Given the description of an element on the screen output the (x, y) to click on. 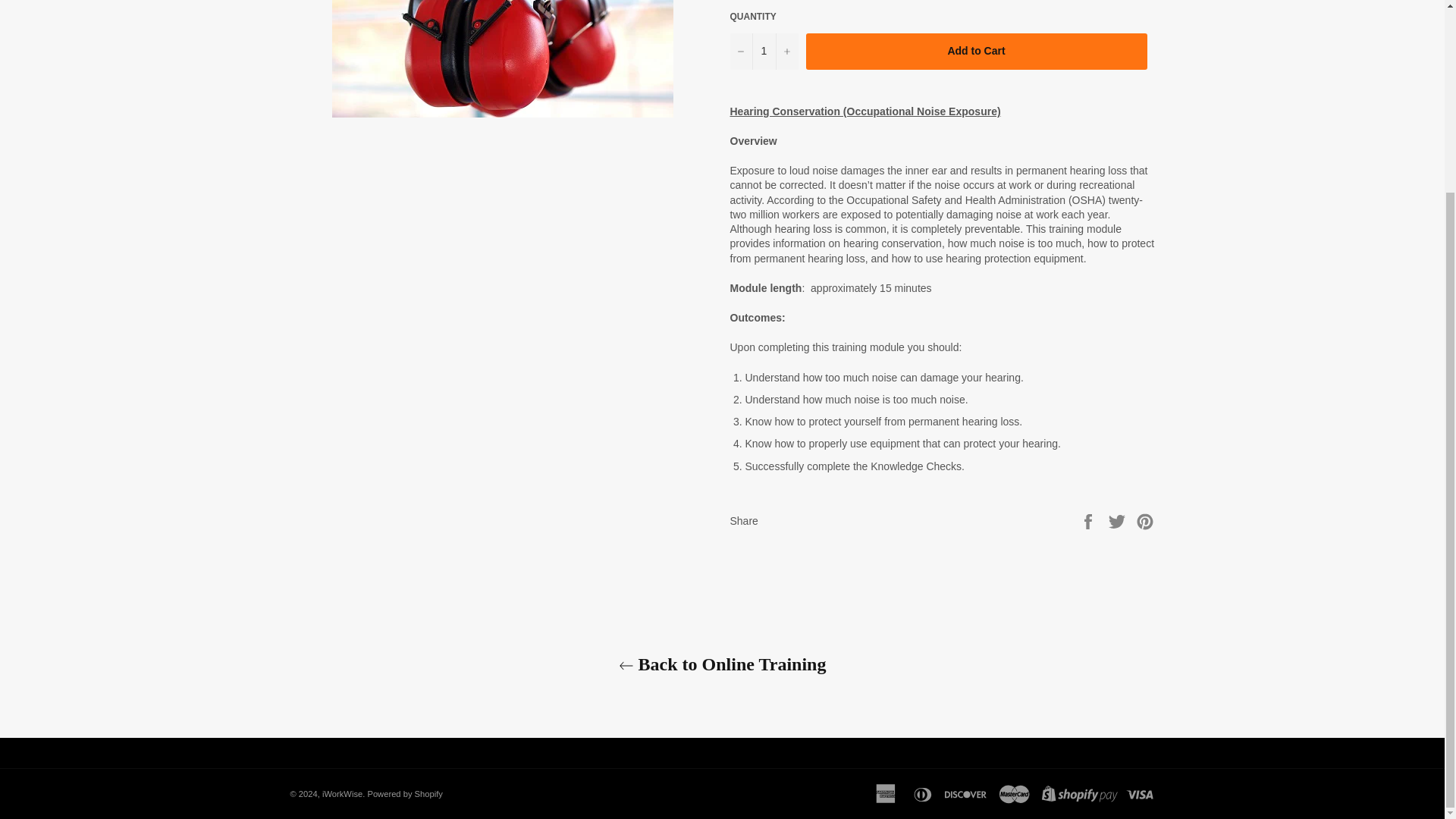
iWorkWise (341, 793)
Share on Facebook (1089, 521)
Pin on Pinterest (1144, 521)
Tweet on Twitter (1118, 521)
Share on Facebook (1089, 521)
1 (763, 51)
Pin on Pinterest (1144, 521)
Back to Online Training (721, 664)
Add to Cart (976, 51)
Tweet on Twitter (1118, 521)
